Given the description of an element on the screen output the (x, y) to click on. 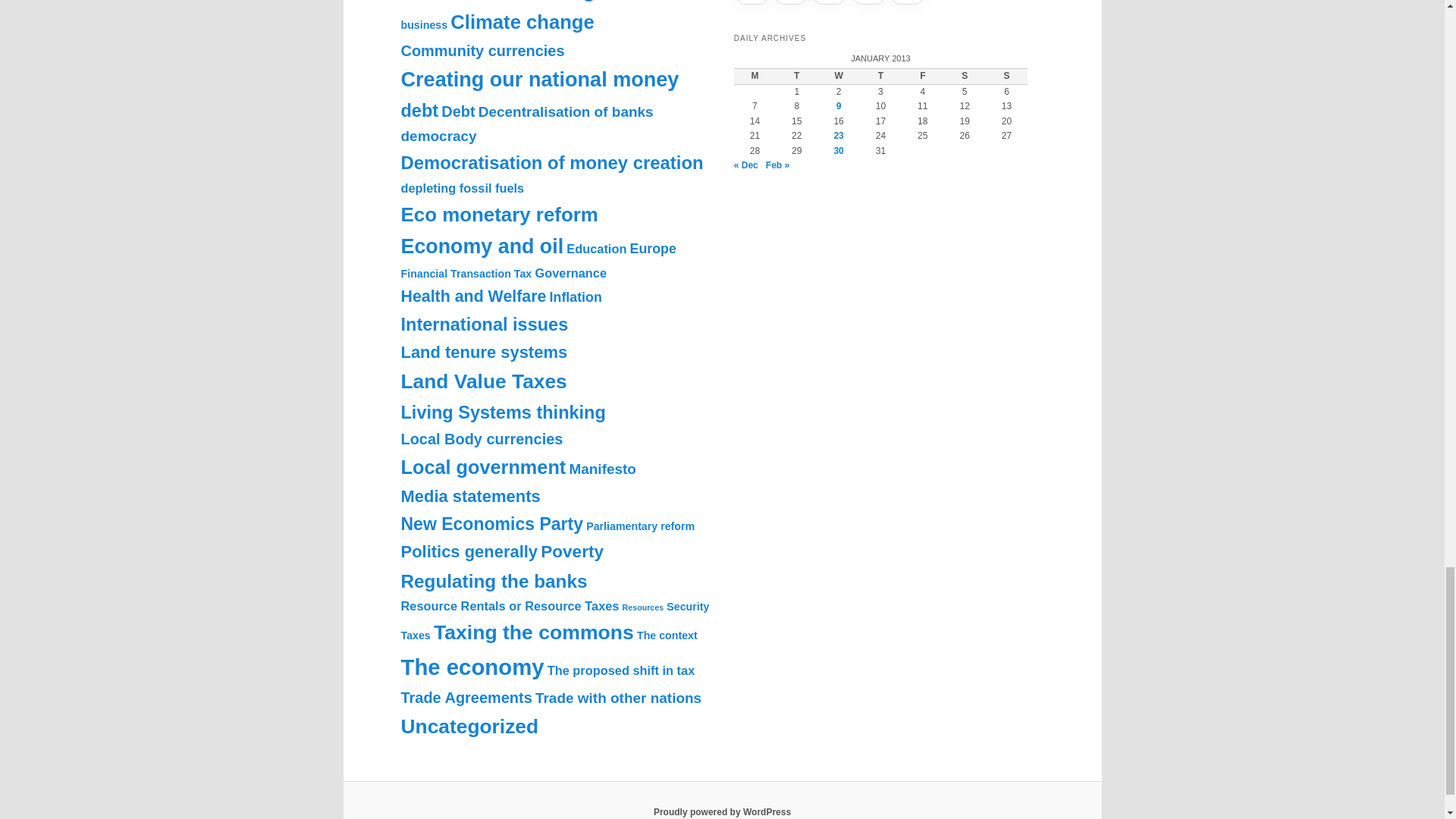
Friday (922, 76)
Tuesday (796, 76)
Wednesday (837, 76)
Semantic Personal Publishing Platform (721, 811)
Thursday (880, 76)
Sunday (1006, 76)
Saturday (964, 76)
Monday (754, 76)
